Given the description of an element on the screen output the (x, y) to click on. 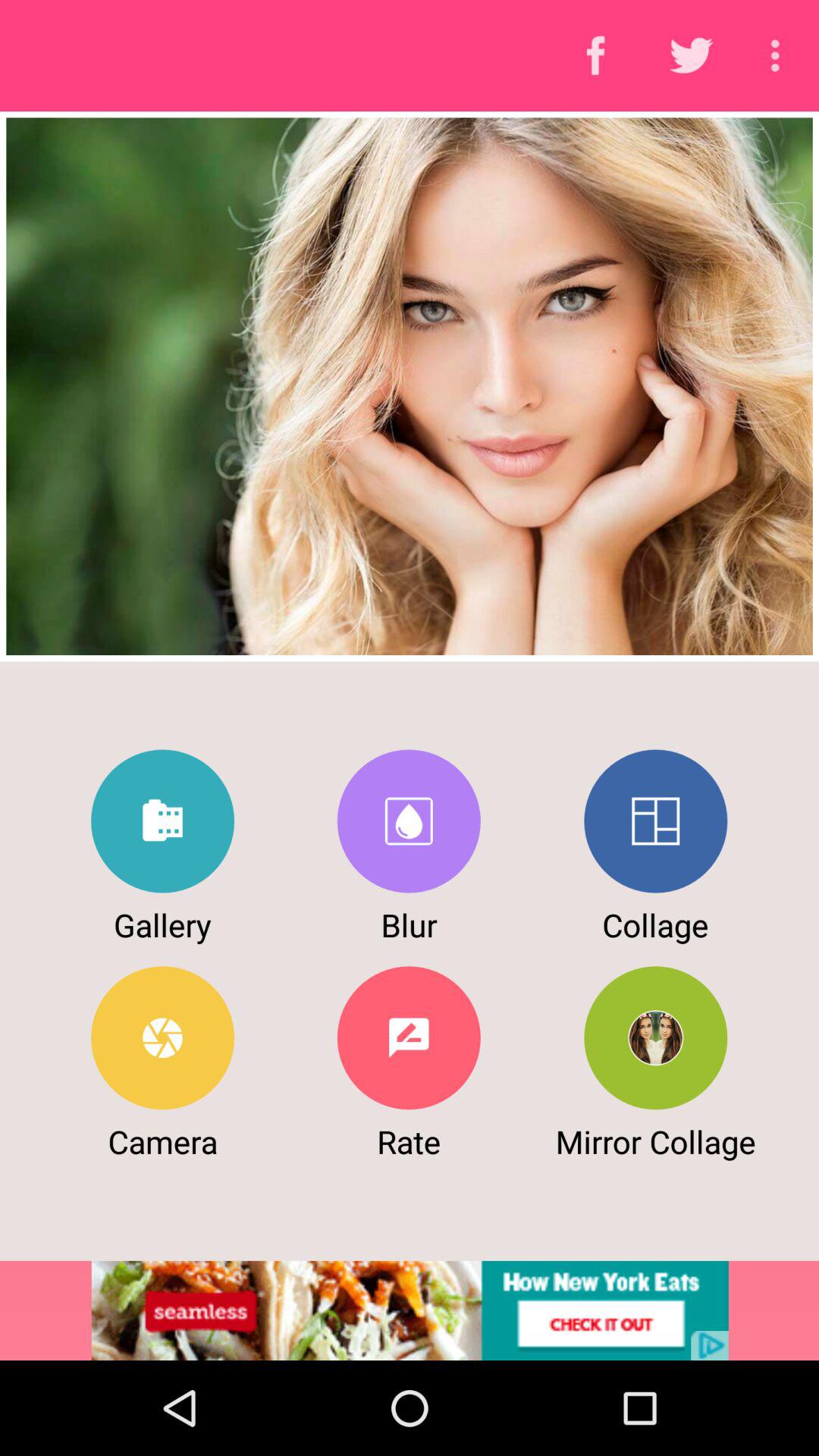
click camera icon (162, 1037)
